Given the description of an element on the screen output the (x, y) to click on. 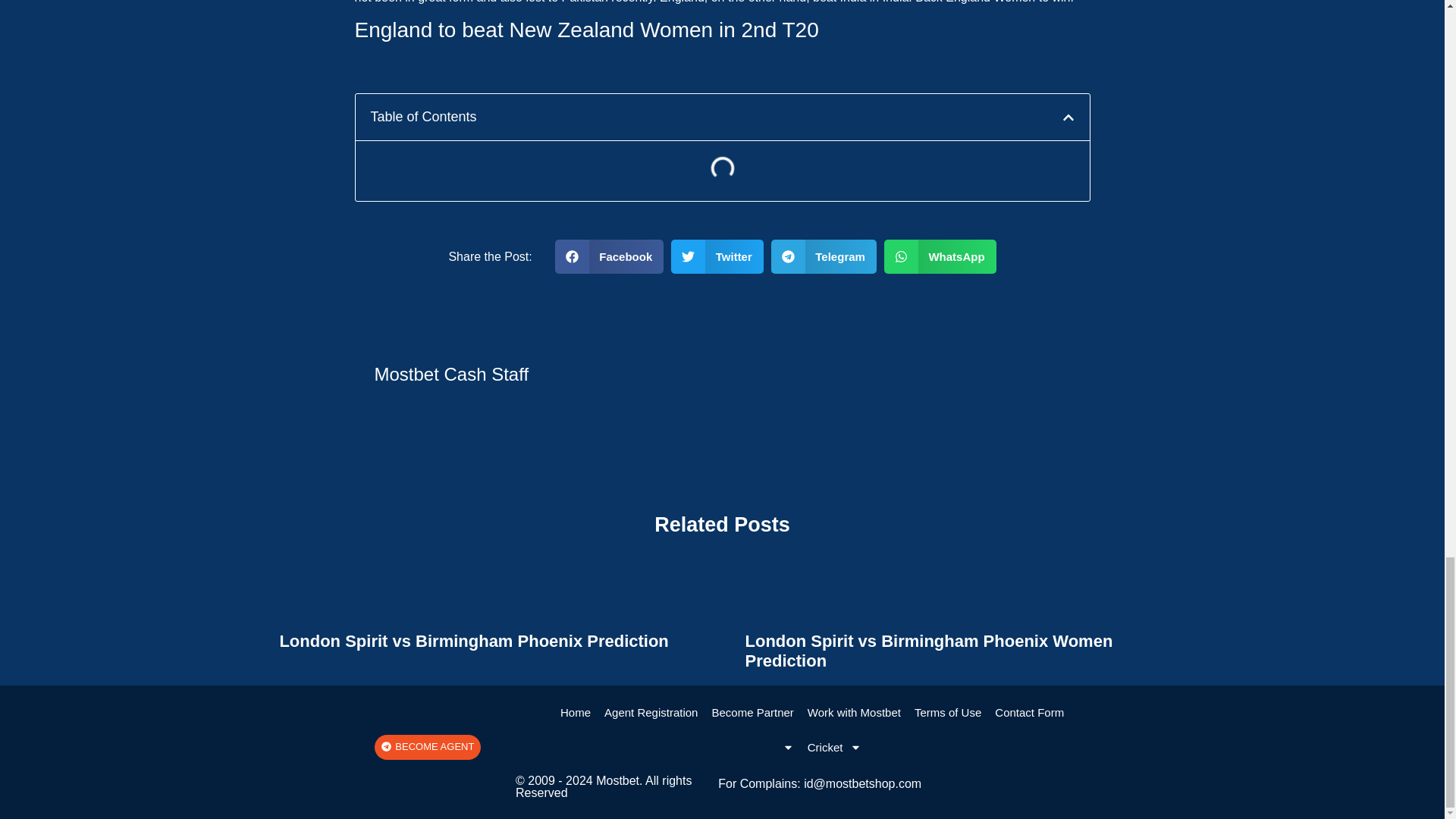
Cricket (834, 747)
Home (574, 712)
Become Partner (751, 712)
Contact Form (1029, 712)
Terms of Use (947, 712)
London Spirit vs Birmingham Phoenix Prediction (473, 640)
Agent Registration (650, 712)
London Spirit vs Birmingham Phoenix Women Prediction (928, 650)
BECOME AGENT (427, 747)
Work with Mostbet (853, 712)
